Given the description of an element on the screen output the (x, y) to click on. 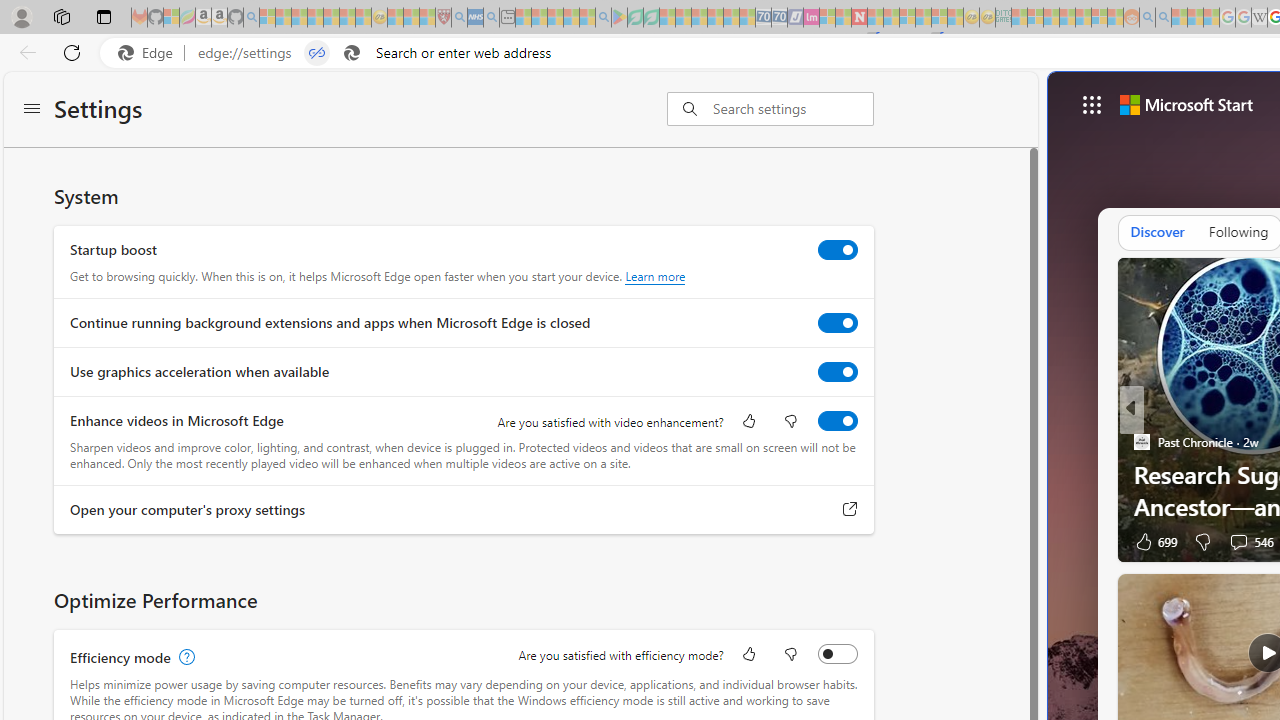
Terms of Use Agreement - Sleeping (635, 17)
Edge (150, 53)
Search settings (791, 109)
14 Common Myths Debunked By Scientific Facts - Sleeping (891, 17)
Latest Politics News & Archive | Newsweek.com - Sleeping (859, 17)
